Given the description of an element on the screen output the (x, y) to click on. 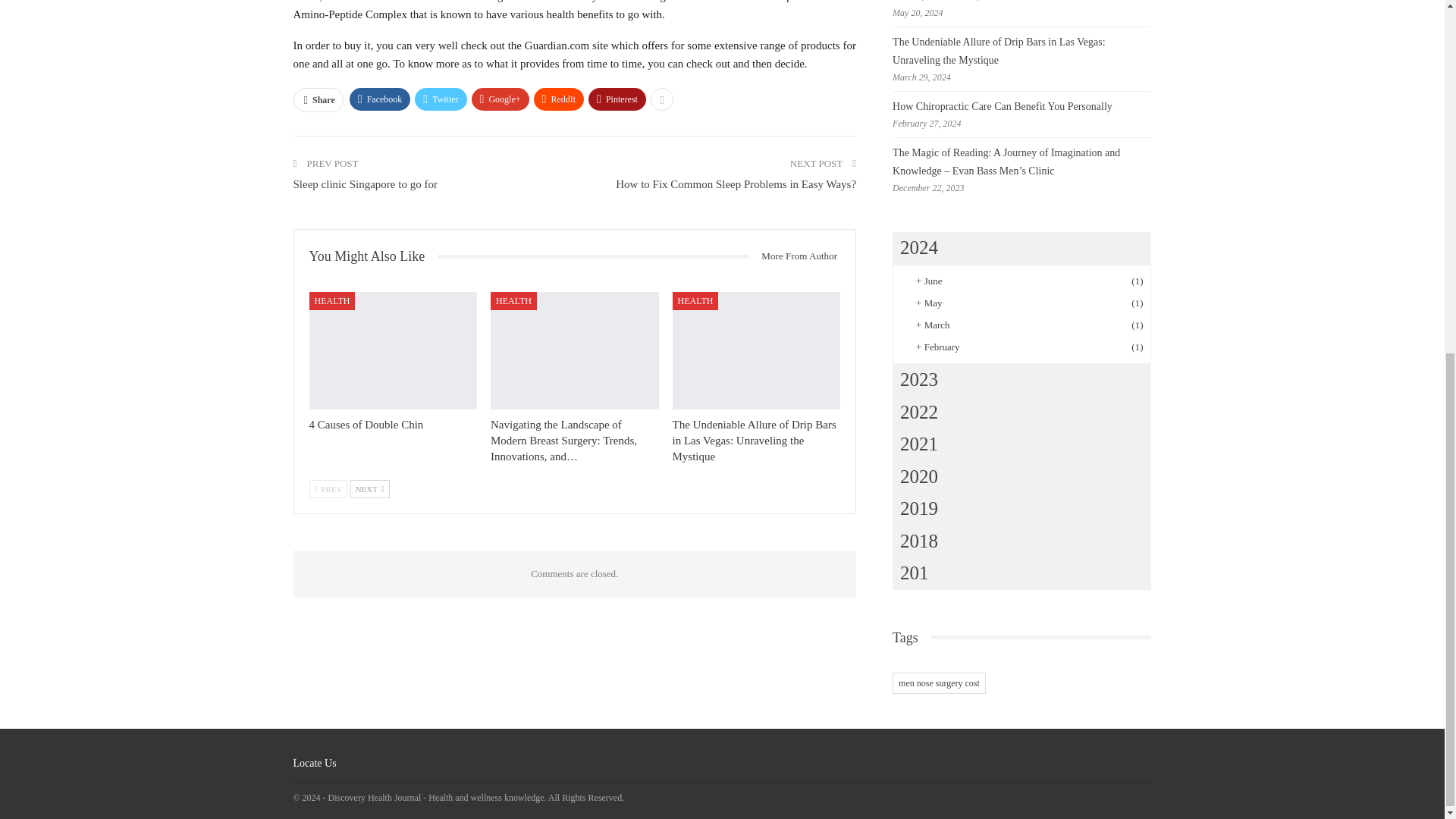
Pinterest (617, 98)
4 Causes of Double Chin (365, 424)
ReddIt (559, 98)
Next (370, 488)
Previous (327, 488)
Twitter (439, 98)
You Might Also Like (373, 256)
Facebook (379, 98)
More From Author (794, 255)
